Given the description of an element on the screen output the (x, y) to click on. 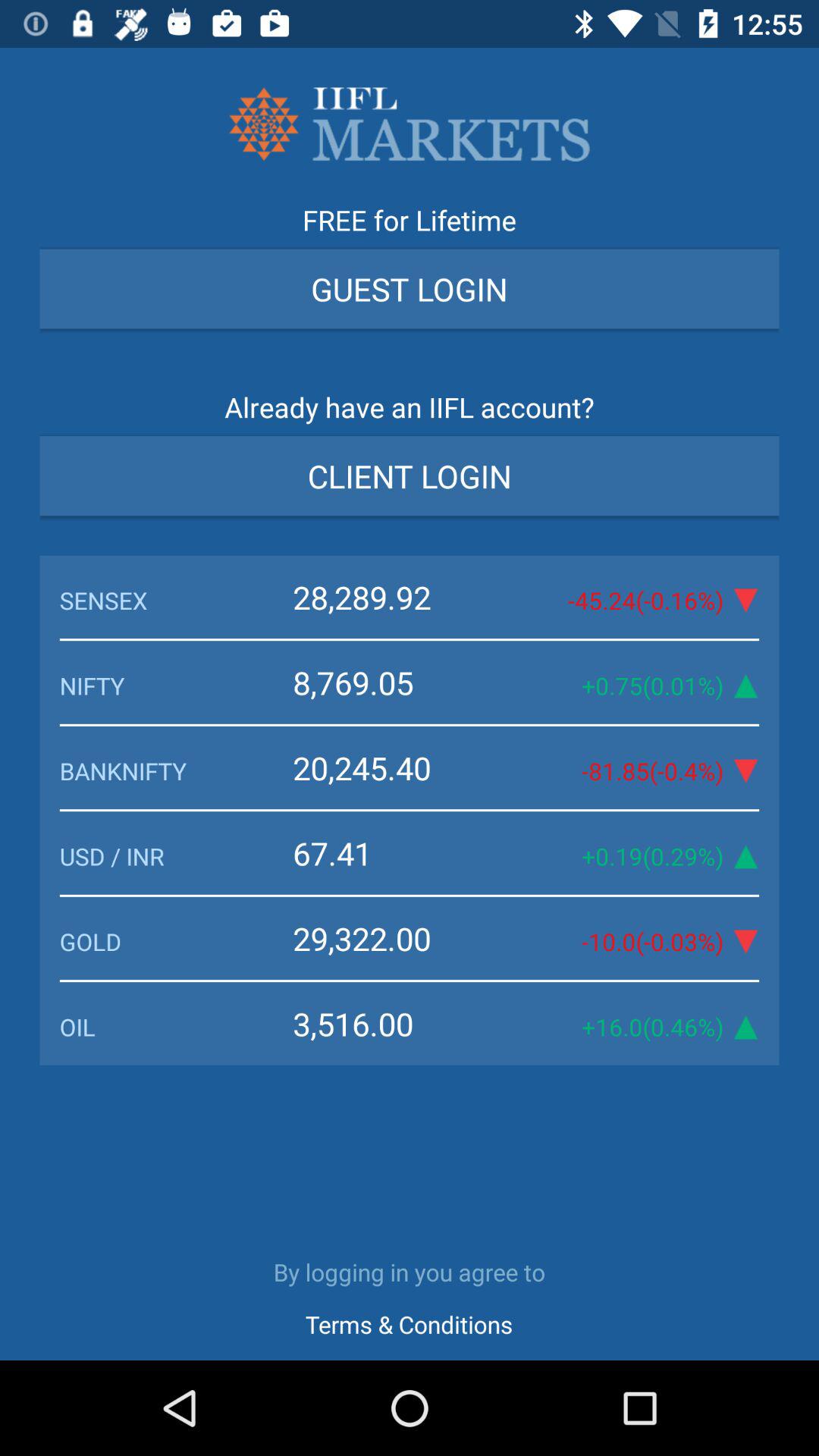
swipe to sensex icon (175, 600)
